Given the description of an element on the screen output the (x, y) to click on. 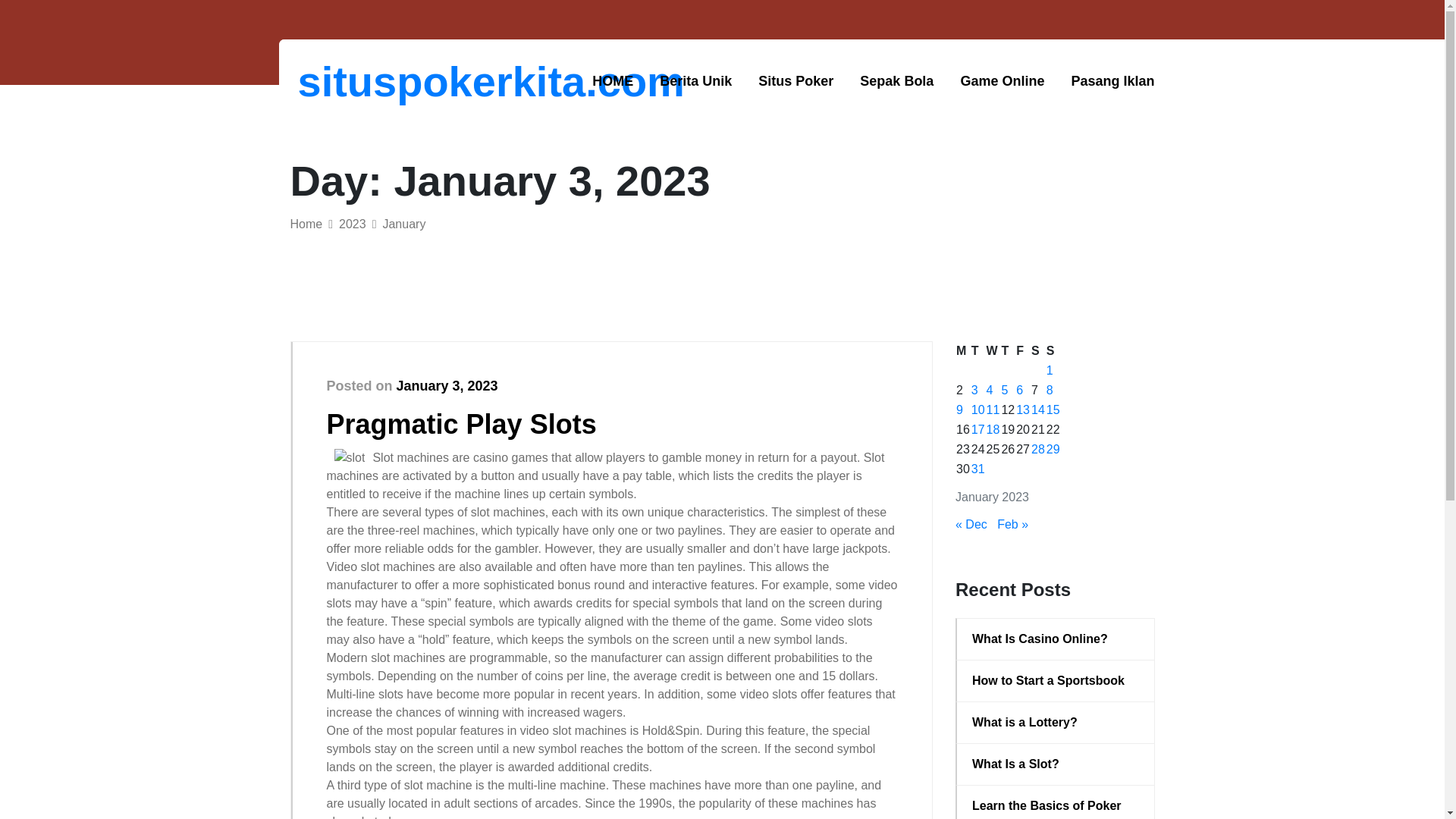
15 (1052, 409)
Sepak Bola (896, 81)
31 (978, 468)
Berita Unik (695, 81)
14 (1037, 409)
Situs Poker (795, 81)
28 (1037, 449)
Berita Unik (695, 81)
29 (1052, 449)
10 (978, 409)
